Given the description of an element on the screen output the (x, y) to click on. 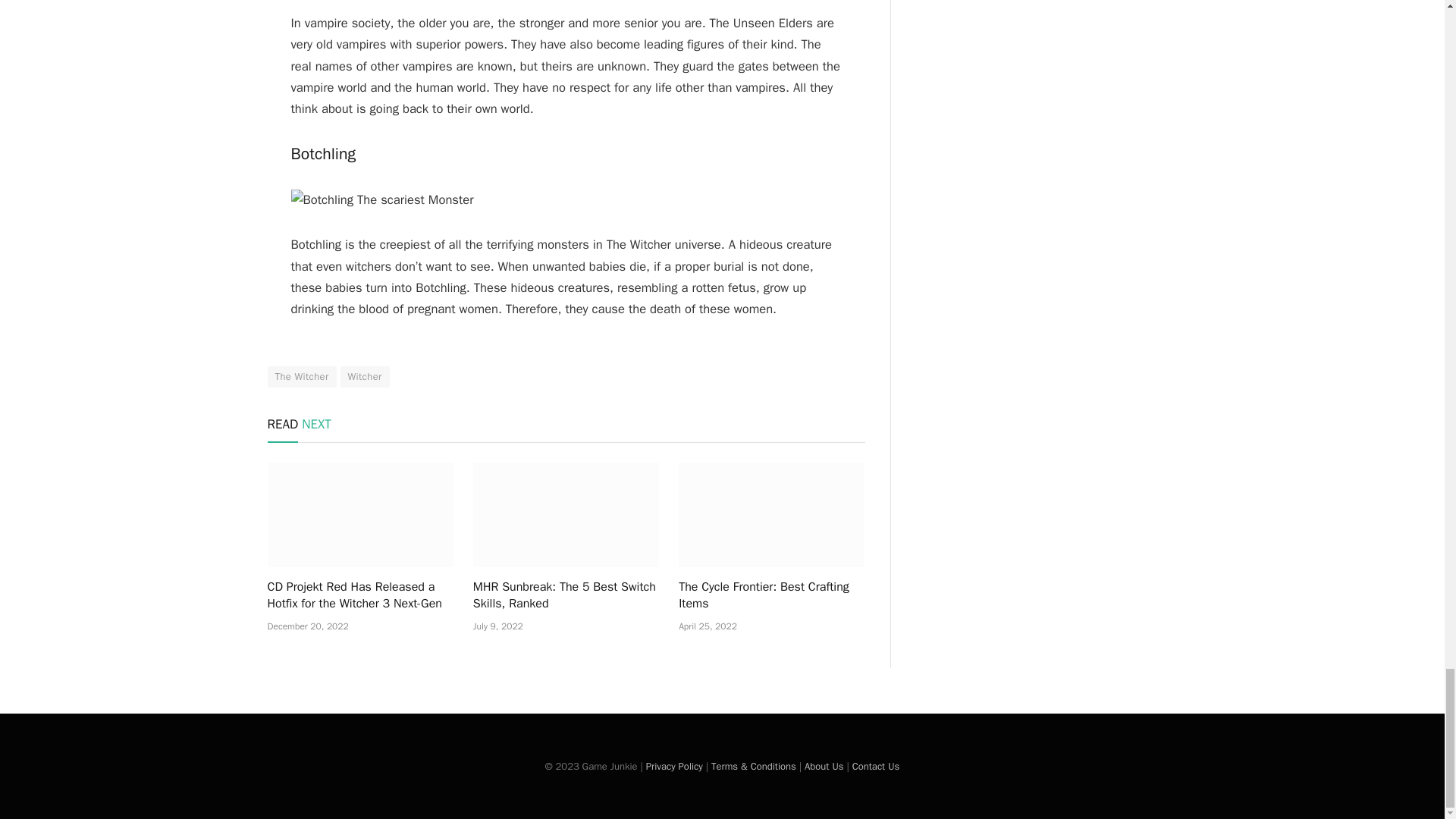
The Cycle Frontier: Best Crafting Items (771, 595)
The Cycle Frontier: Best Crafting Items (771, 514)
MHR Sunbreak: The 5 Best Switch Skills, Ranked (566, 595)
The Witcher (301, 376)
Witcher (365, 376)
MHR Sunbreak: The 5 Best Switch Skills, Ranked (566, 514)
